Given the description of an element on the screen output the (x, y) to click on. 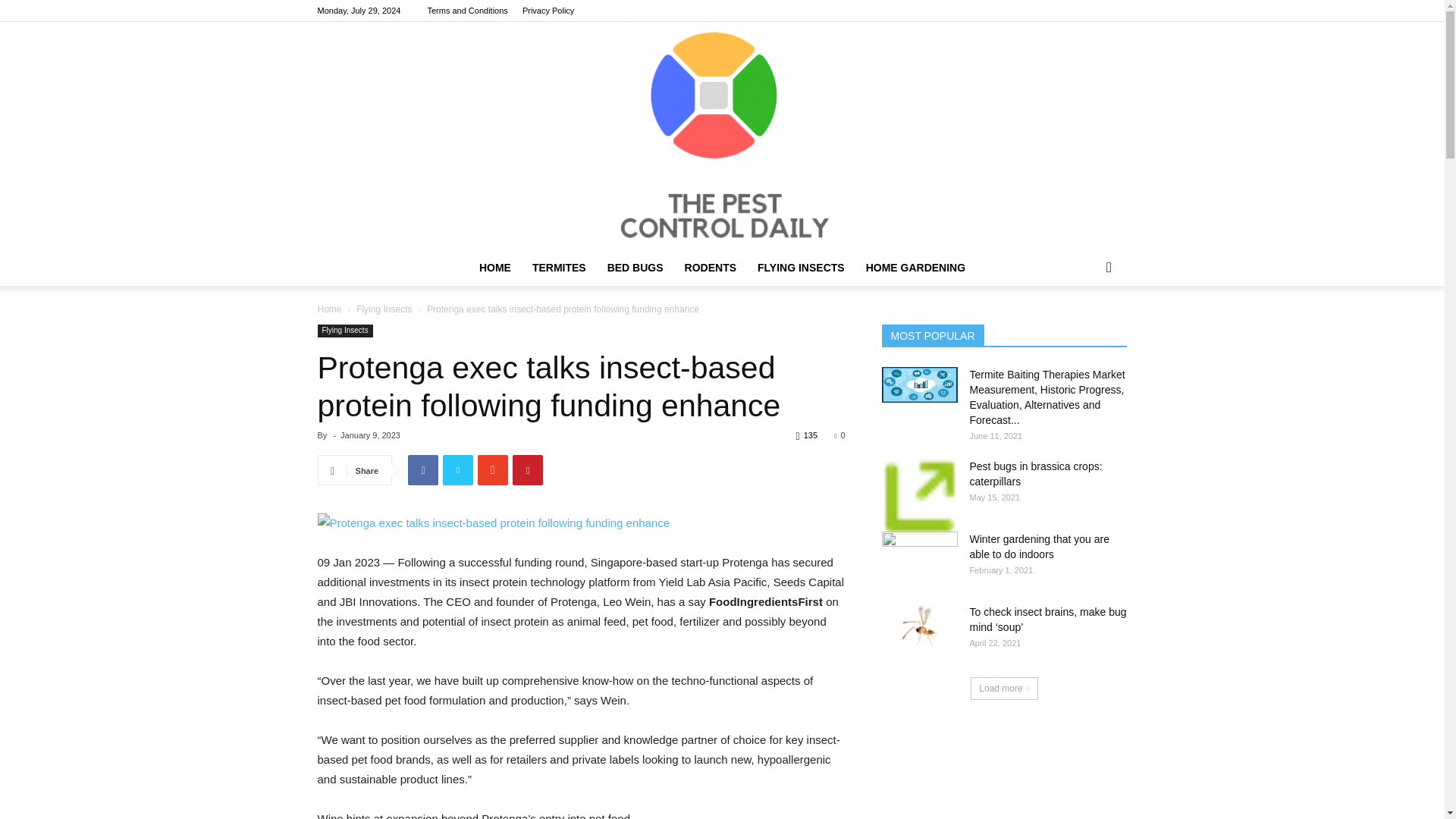
BED BUGS (635, 267)
0 (839, 434)
Terms and Conditions (466, 10)
Flying Insects (384, 308)
FLYING INSECTS (801, 267)
Search (1085, 328)
HOME GARDENING (915, 267)
Flying Insects (344, 330)
Privacy Policy (547, 10)
TERMITES (558, 267)
RODENTS (710, 267)
View all posts in Flying Insects (384, 308)
HOME (494, 267)
